Given the description of an element on the screen output the (x, y) to click on. 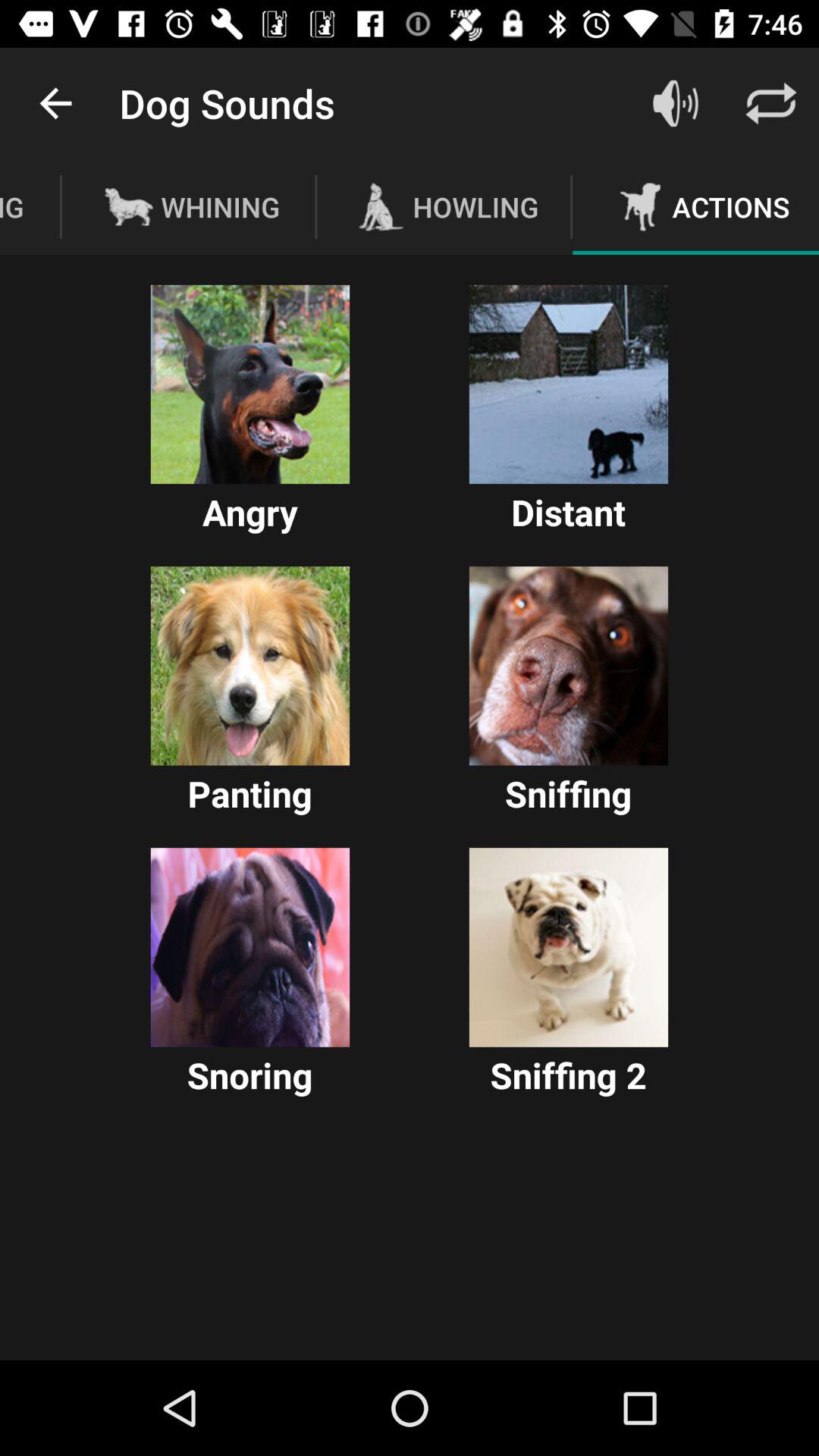
reload (771, 103)
